Given the description of an element on the screen output the (x, y) to click on. 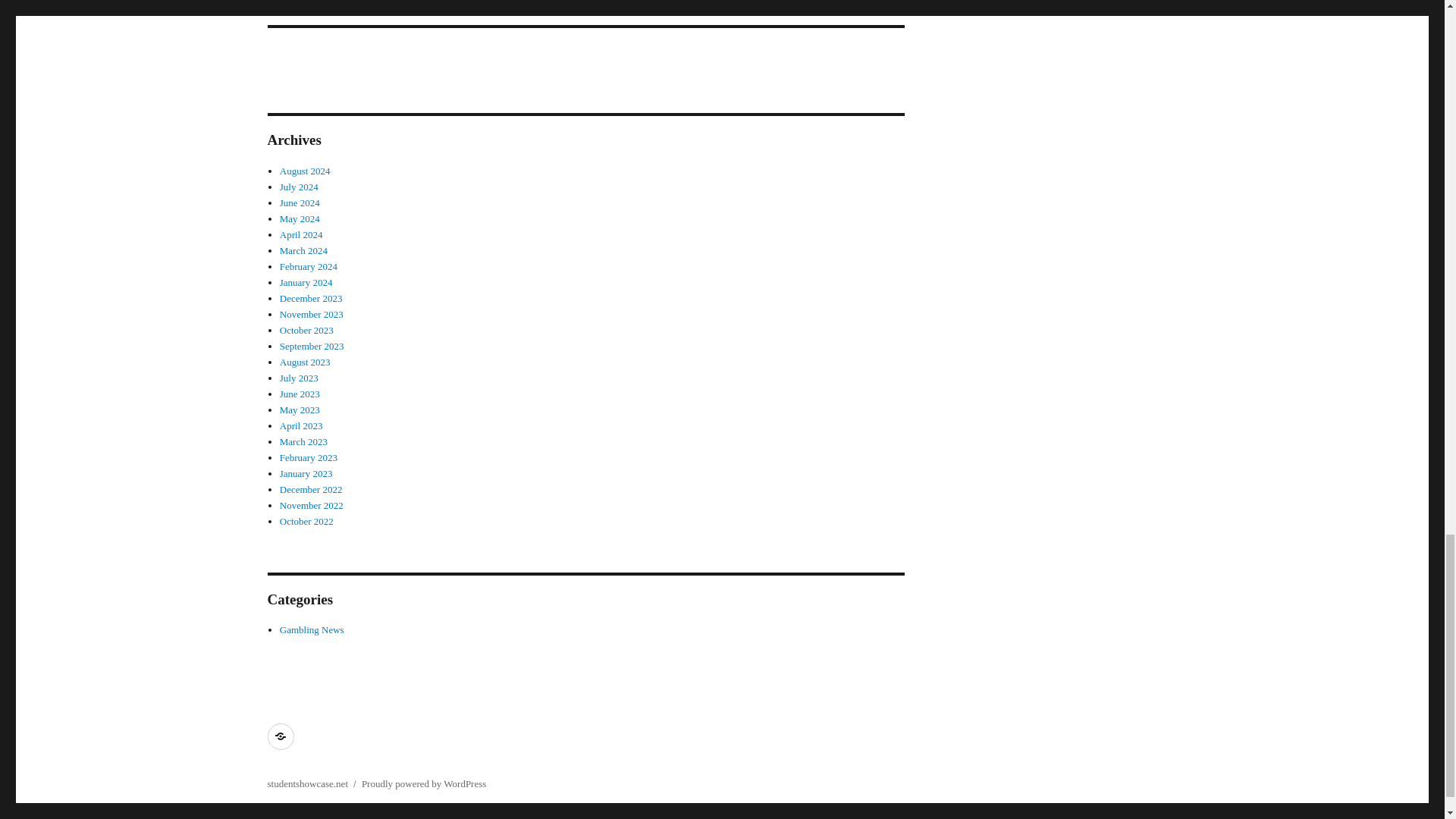
January 2023 (306, 473)
July 2024 (298, 186)
December 2023 (310, 297)
March 2024 (303, 250)
March 2023 (585, 12)
May 2023 (303, 441)
November 2023 (299, 409)
February 2024 (311, 314)
July 2023 (308, 266)
